Given the description of an element on the screen output the (x, y) to click on. 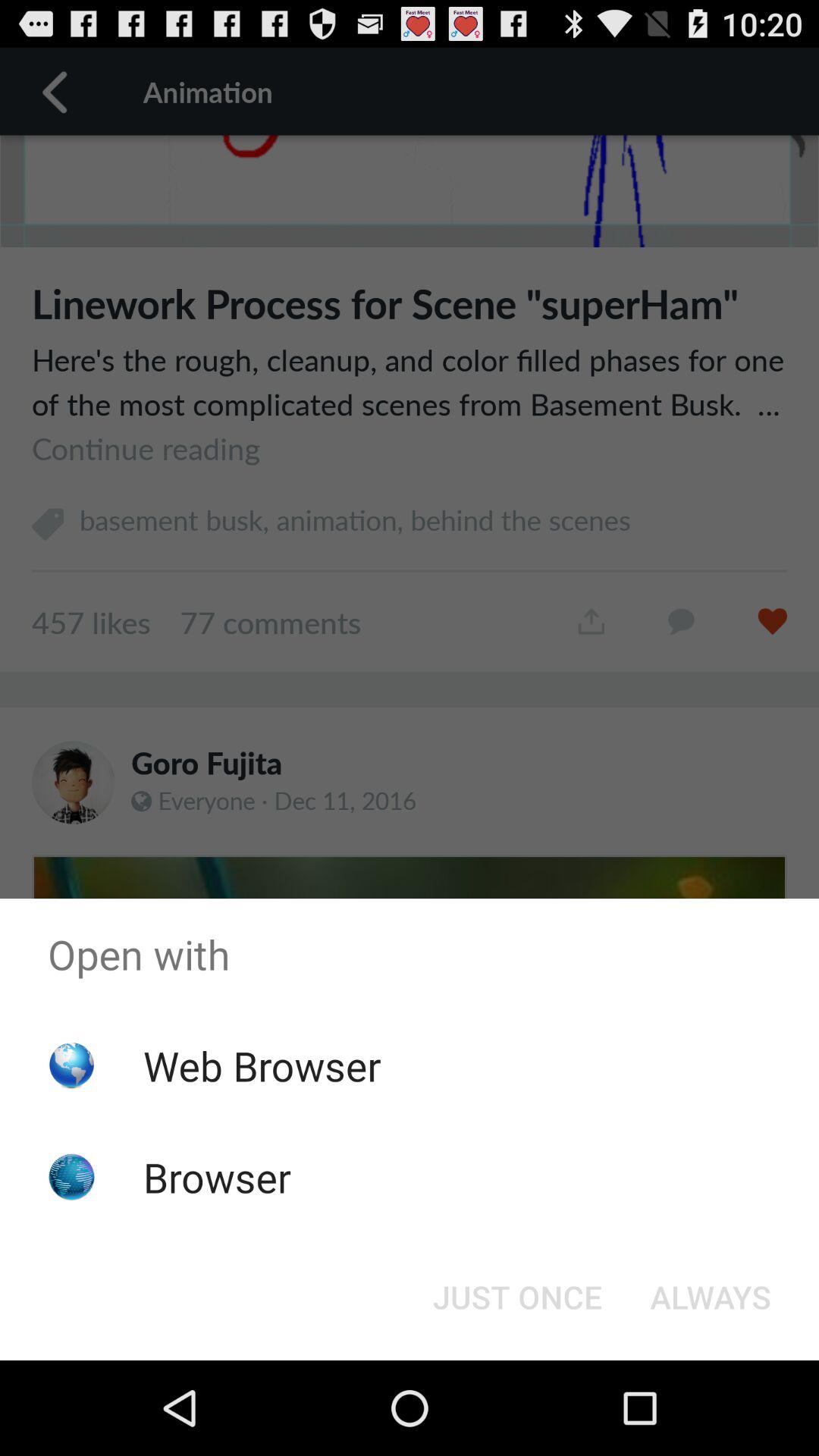
press the icon below the open with app (710, 1296)
